Given the description of an element on the screen output the (x, y) to click on. 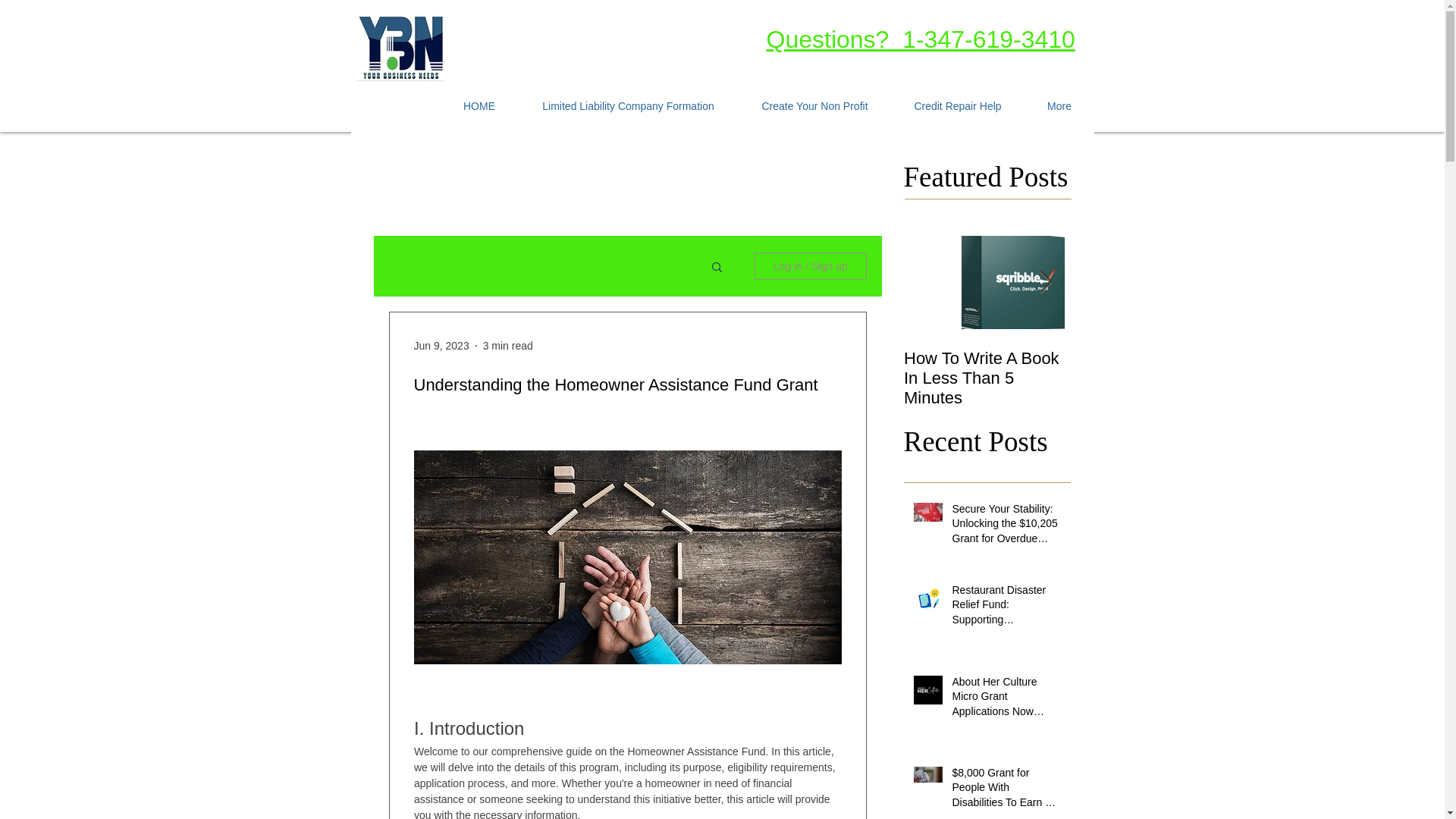
Limited Liability Company Formation (627, 105)
3 min read (507, 345)
Credit Repair Help (957, 105)
About Her Culture Micro Grant Applications Now Open (1006, 699)
Jun 9, 2023 (440, 345)
Create Your Non Profit (813, 105)
How To Write A Book In Less Than 5 Minutes (987, 377)
Questions?  1-347-619-3410 (919, 39)
